Given the description of an element on the screen output the (x, y) to click on. 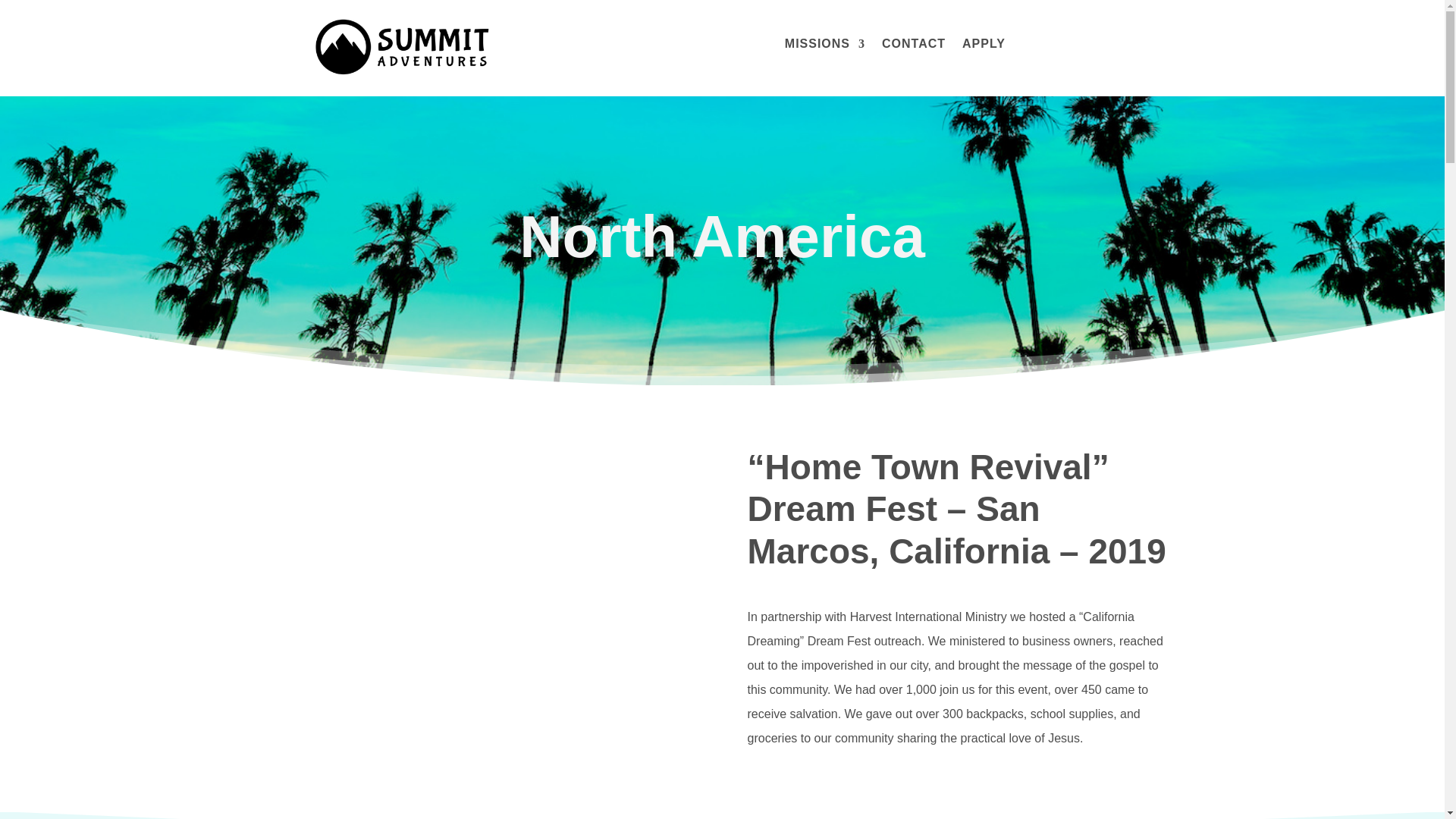
APPLY (984, 46)
CONTACT (913, 46)
MISSIONS (824, 46)
